Given the description of an element on the screen output the (x, y) to click on. 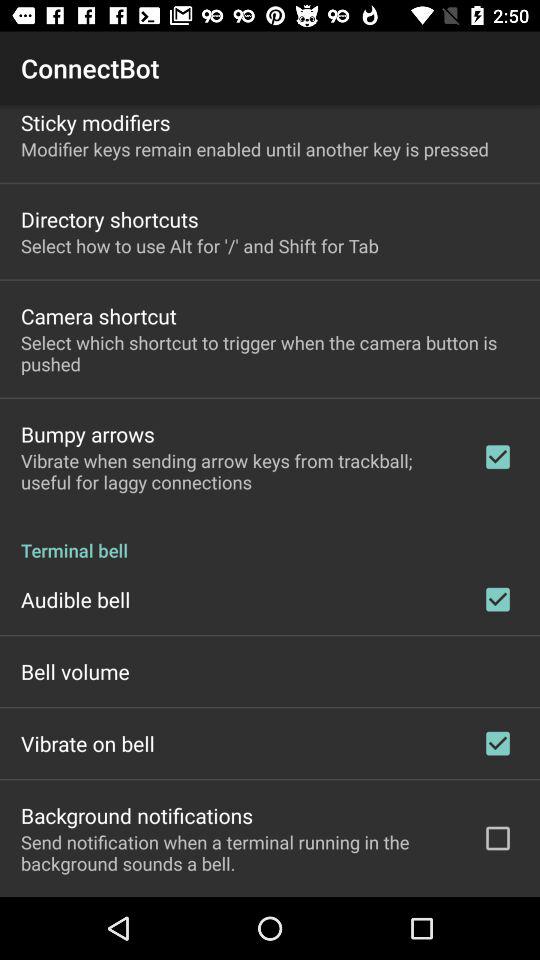
select select which shortcut app (270, 353)
